Given the description of an element on the screen output the (x, y) to click on. 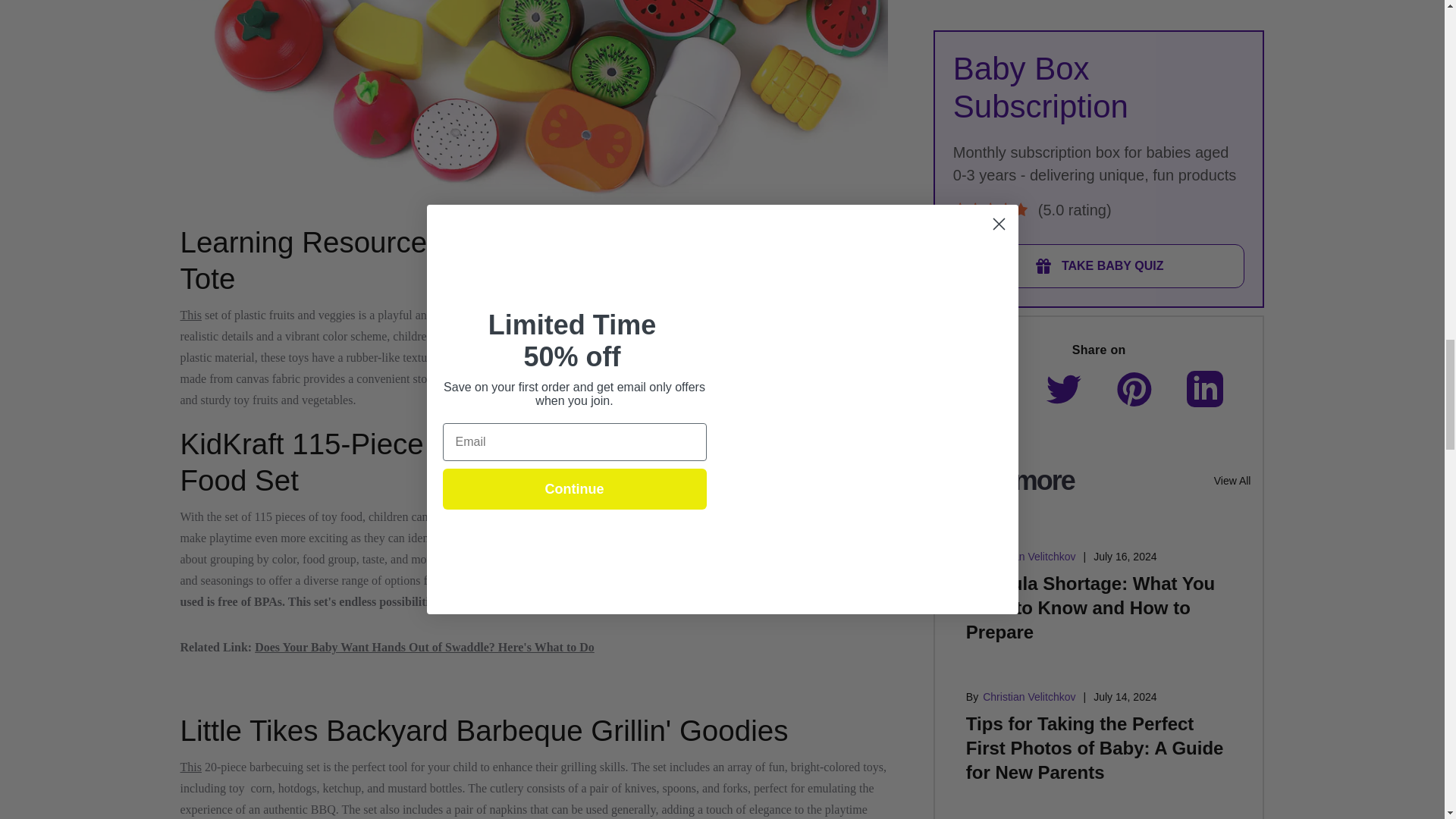
Does Your Baby Want Hands Out of Swaddle? Here's What to Do (424, 646)
This (191, 314)
This (191, 766)
The set (459, 558)
